Given the description of an element on the screen output the (x, y) to click on. 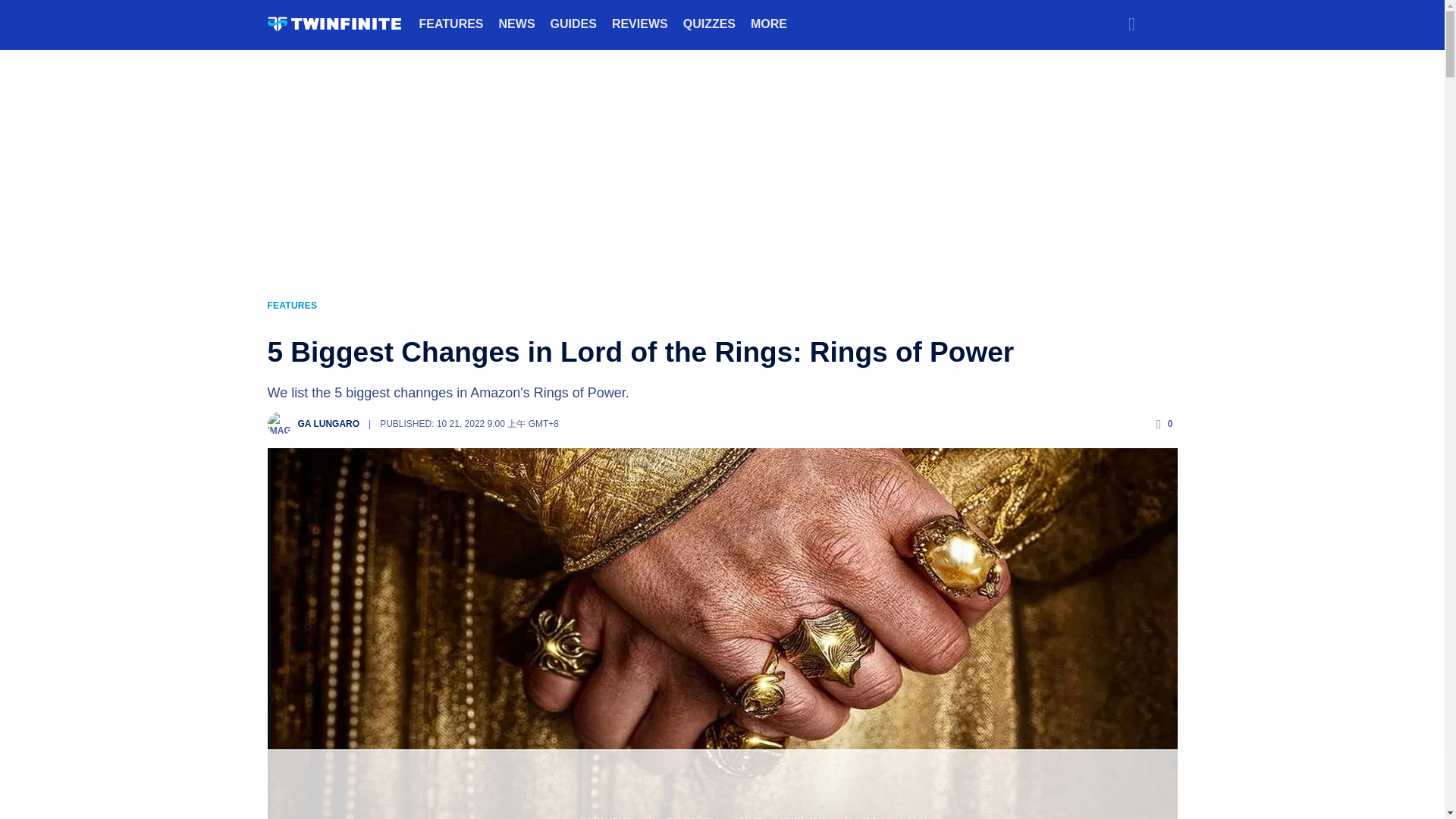
FEATURES (451, 23)
3rd party ad content (721, 161)
REVIEWS (639, 23)
Search (1131, 24)
Dark Mode (1161, 24)
QUIZZES (708, 23)
3rd party ad content (721, 785)
GUIDES (573, 23)
NEWS (517, 23)
